Given the description of an element on the screen output the (x, y) to click on. 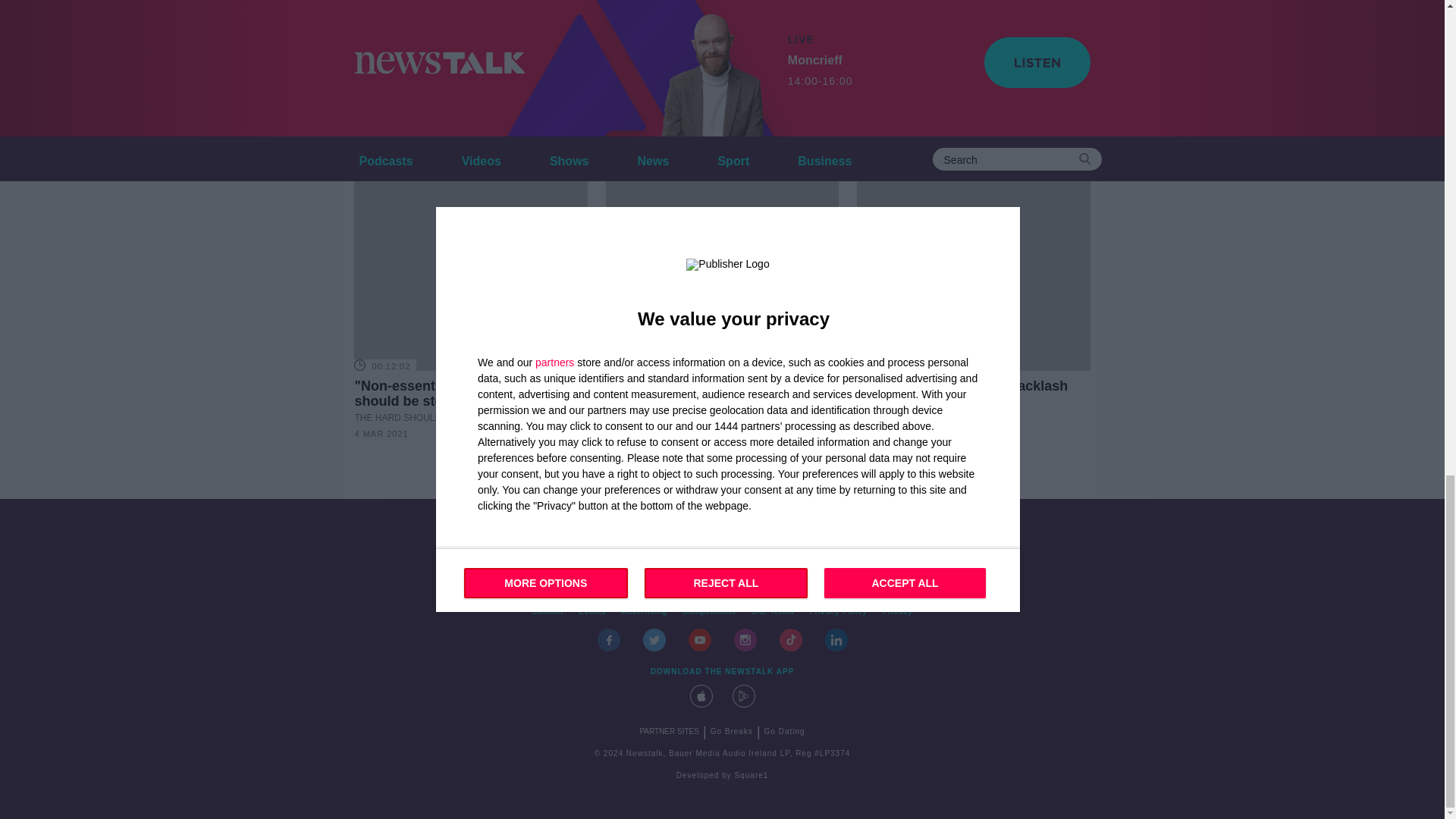
contact (547, 611)
Privacy (897, 611)
events (592, 611)
competitions (708, 611)
advertising (644, 611)
Privacy Policy (838, 611)
site terms (772, 611)
